Given the description of an element on the screen output the (x, y) to click on. 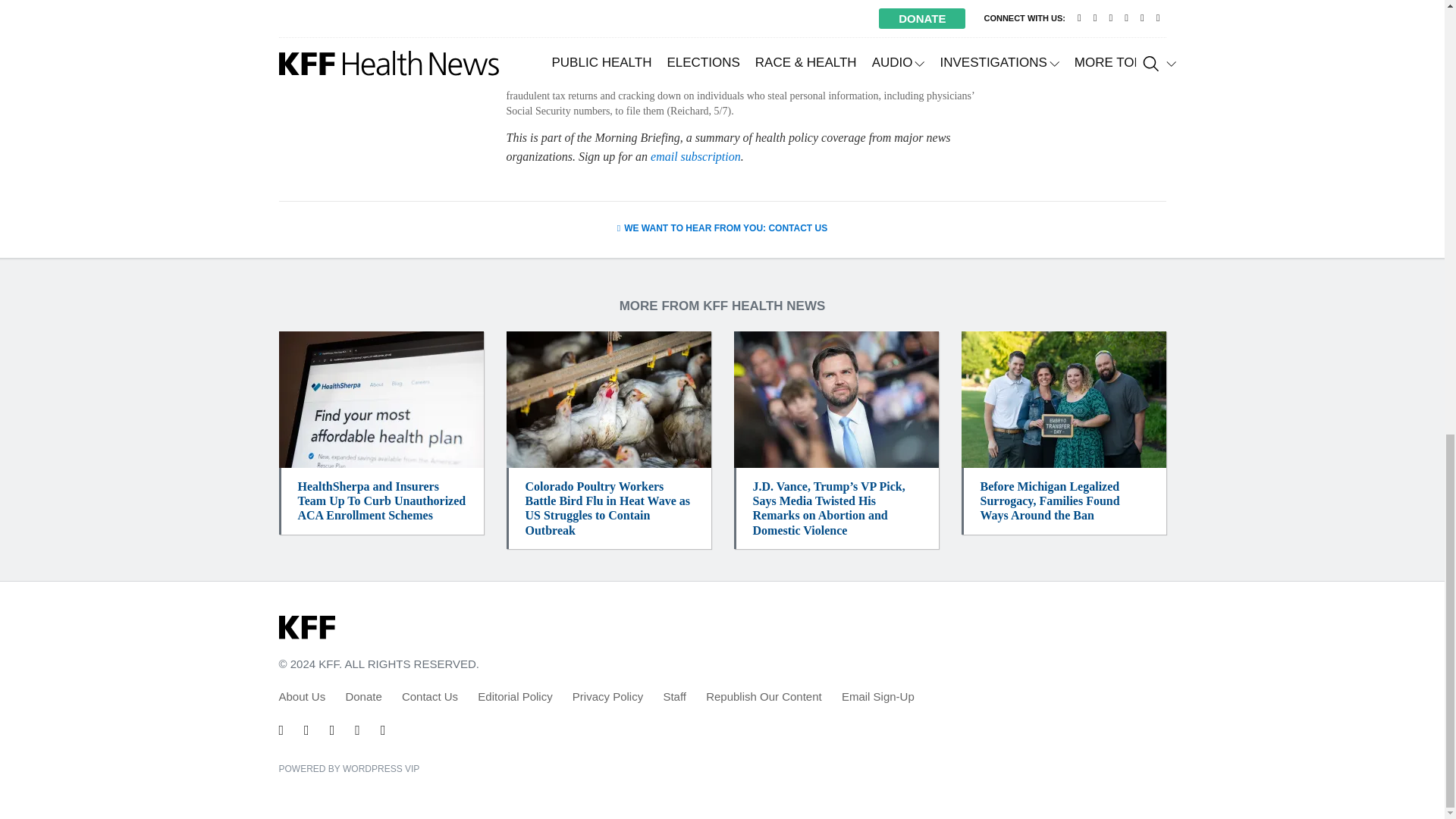
KFF (306, 627)
Instagram (357, 729)
Facebook (306, 729)
RSS (382, 729)
LinkedIn (332, 729)
Twitter (281, 729)
